Given the description of an element on the screen output the (x, y) to click on. 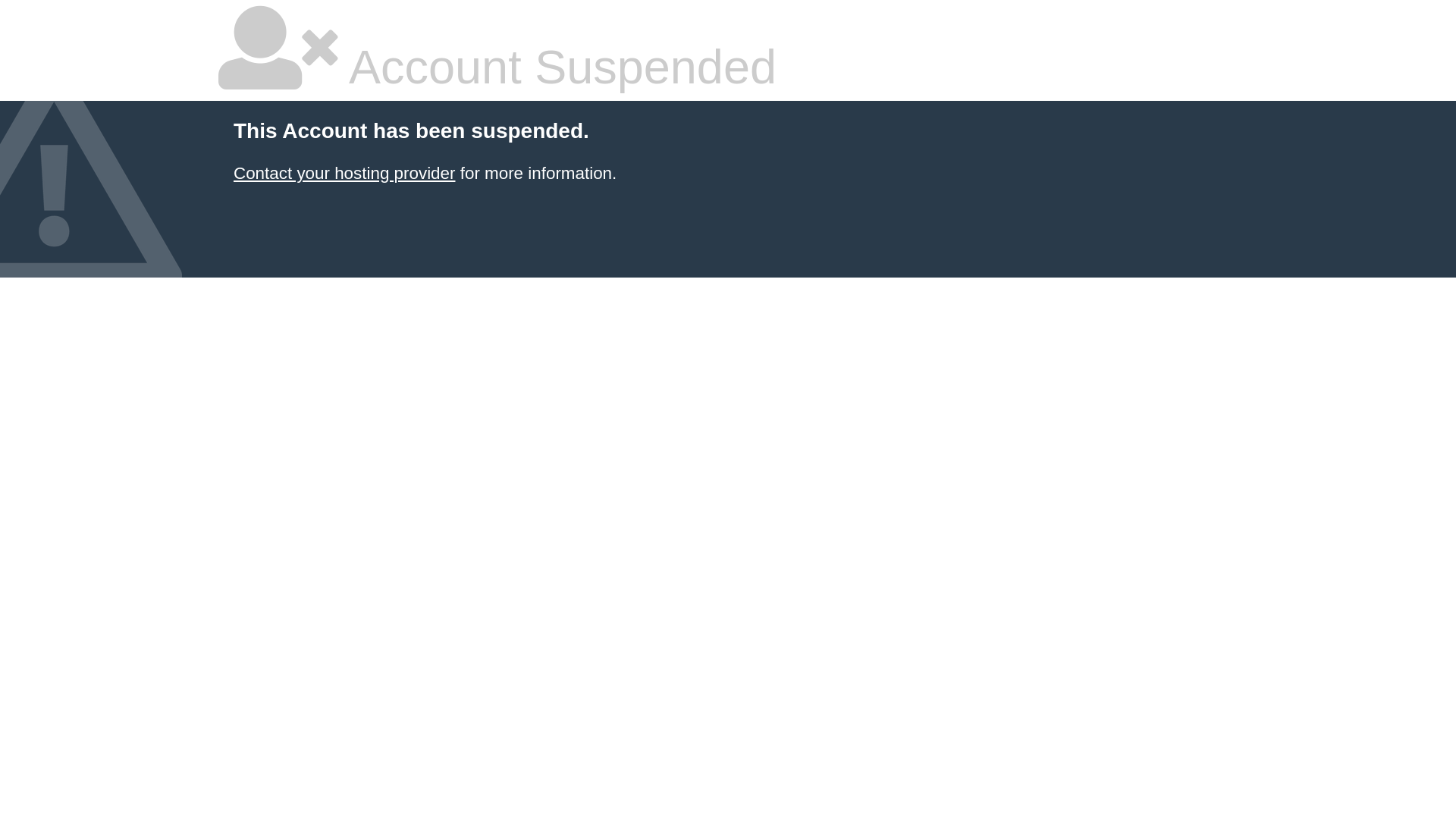
Contact your hosting provider Element type: text (344, 172)
